Given the description of an element on the screen output the (x, y) to click on. 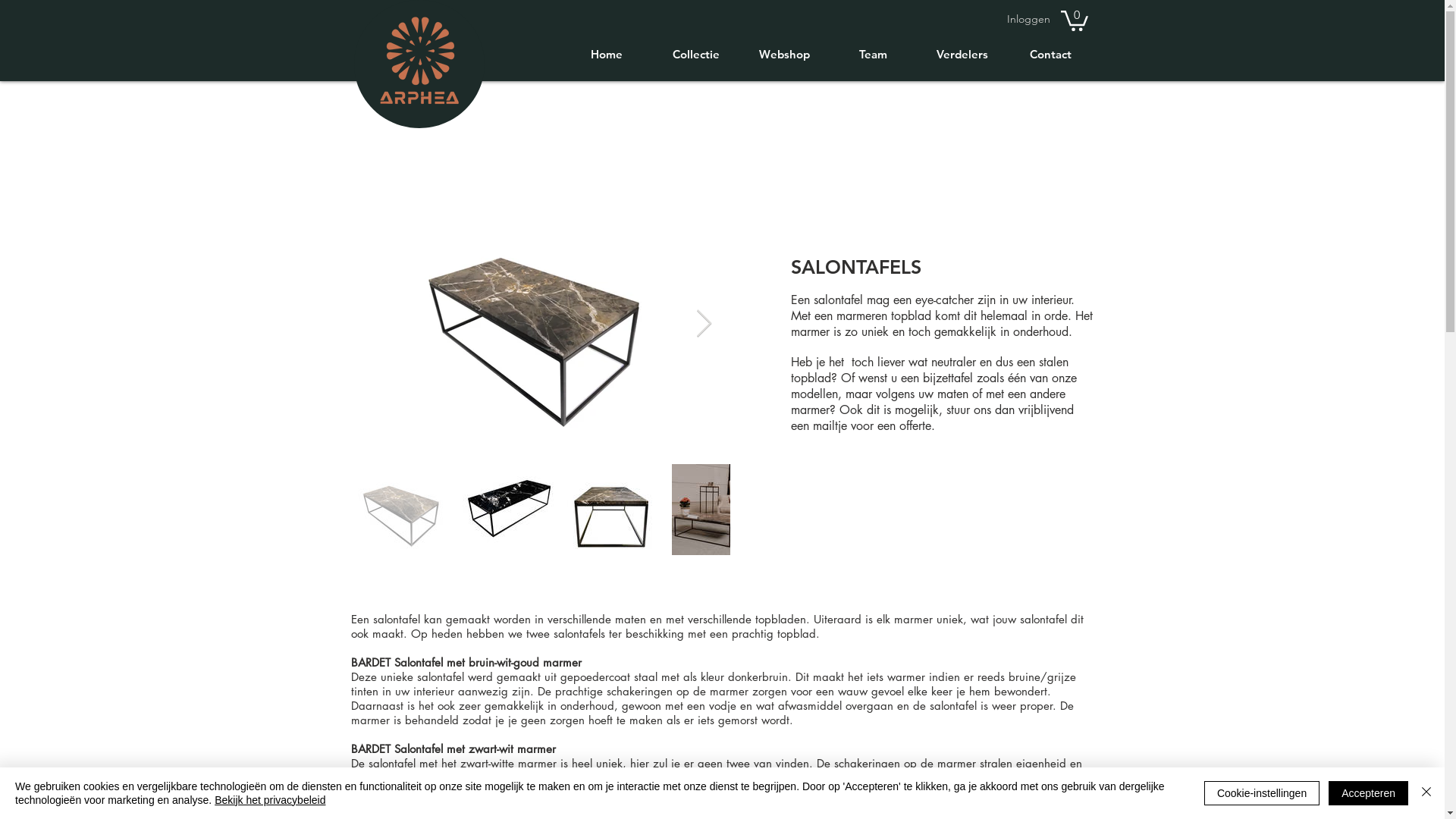
Cookie-instellingen Element type: text (1261, 793)
Bekijk het privacybeleid Element type: text (269, 799)
Home Element type: text (606, 54)
0 Element type: text (1073, 19)
Contact Element type: text (1049, 54)
Accepteren Element type: text (1368, 793)
Arphea Aalter Element type: hover (419, 60)
Collectie Element type: text (694, 54)
Webshop Element type: text (784, 54)
Inloggen Element type: text (1028, 19)
Verdelers Element type: text (961, 54)
Team Element type: text (872, 54)
